Given the description of an element on the screen output the (x, y) to click on. 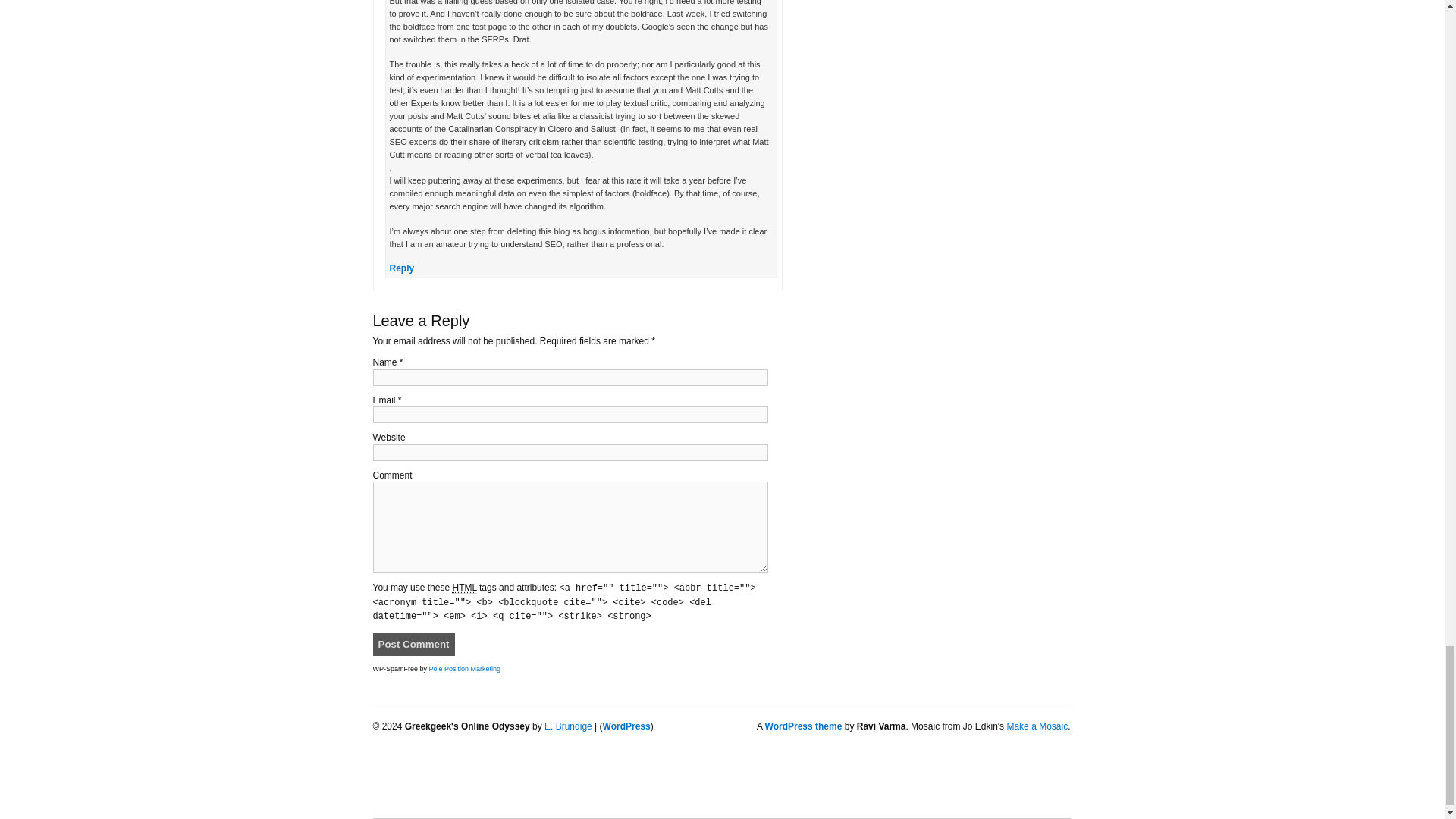
Post Comment (413, 644)
HyperText Markup Language (463, 587)
Reply (402, 267)
Pole Position Marketing (464, 668)
Post Comment (413, 644)
WP-SpamFree WordPress Anti-Spam Plugin (464, 668)
